Given the description of an element on the screen output the (x, y) to click on. 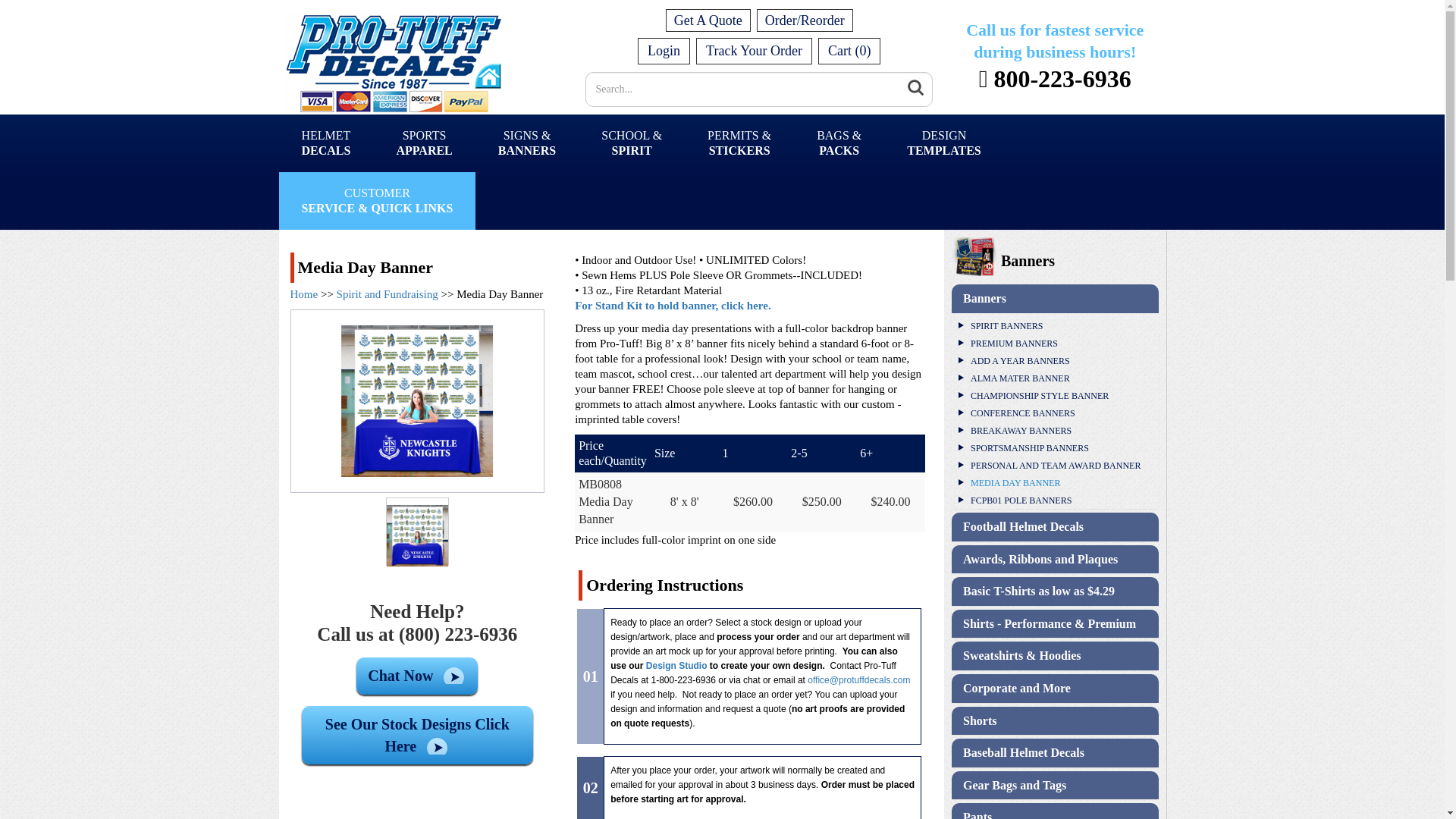
Track Your Order (753, 51)
Media Day Banner (500, 294)
Pro-Tuff Decals (423, 142)
Track Your Order (386, 54)
Submit (753, 51)
Login (914, 87)
Login (663, 51)
SPORTS APPAREL (663, 51)
DESIGN TEMPLATES (423, 142)
